Given the description of an element on the screen output the (x, y) to click on. 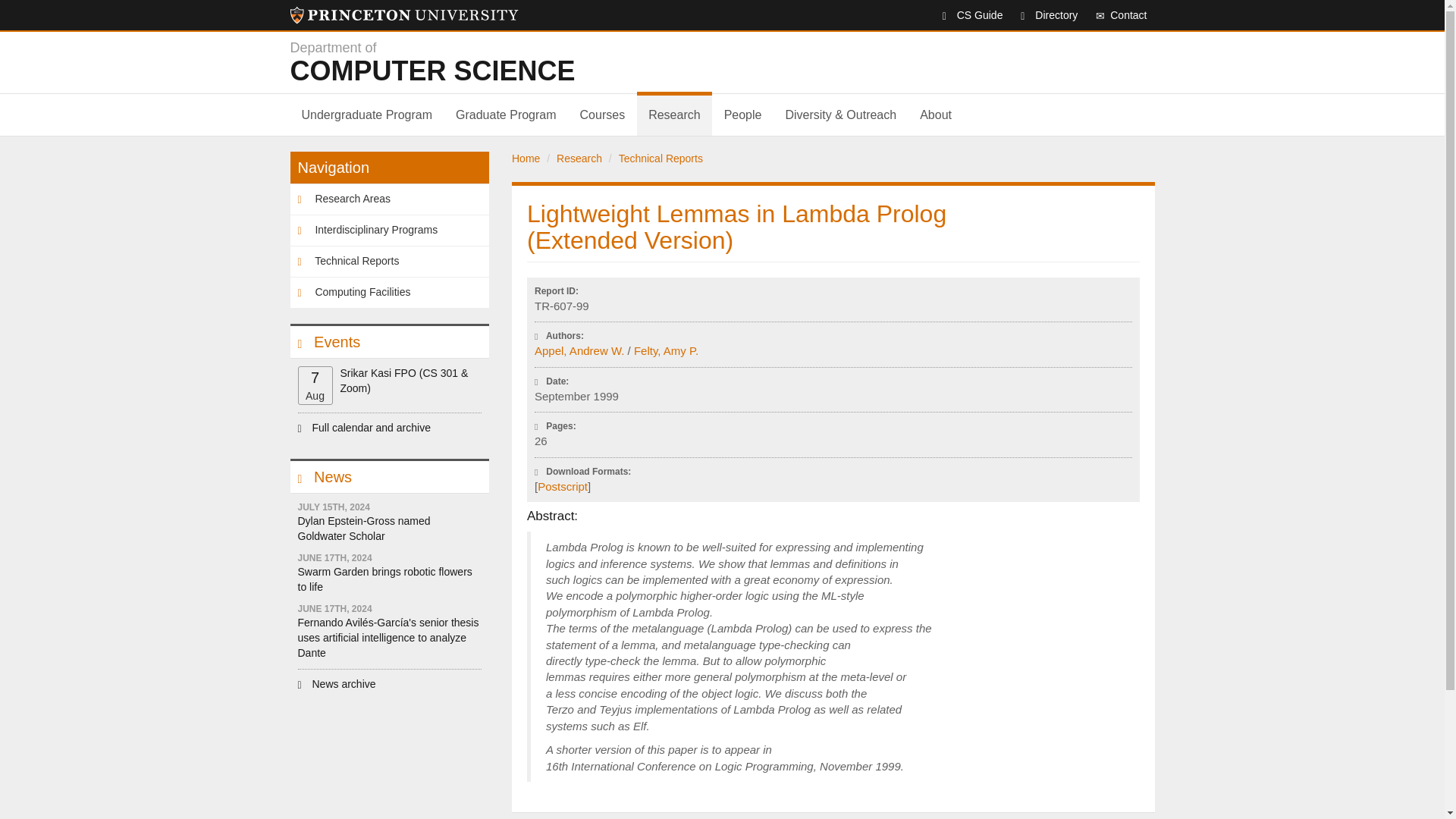
Undergraduate Program (366, 115)
CS Guide (965, 15)
Contact (1113, 15)
Home (403, 14)
Directory (574, 61)
Graduate Program (1041, 15)
